Given the description of an element on the screen output the (x, y) to click on. 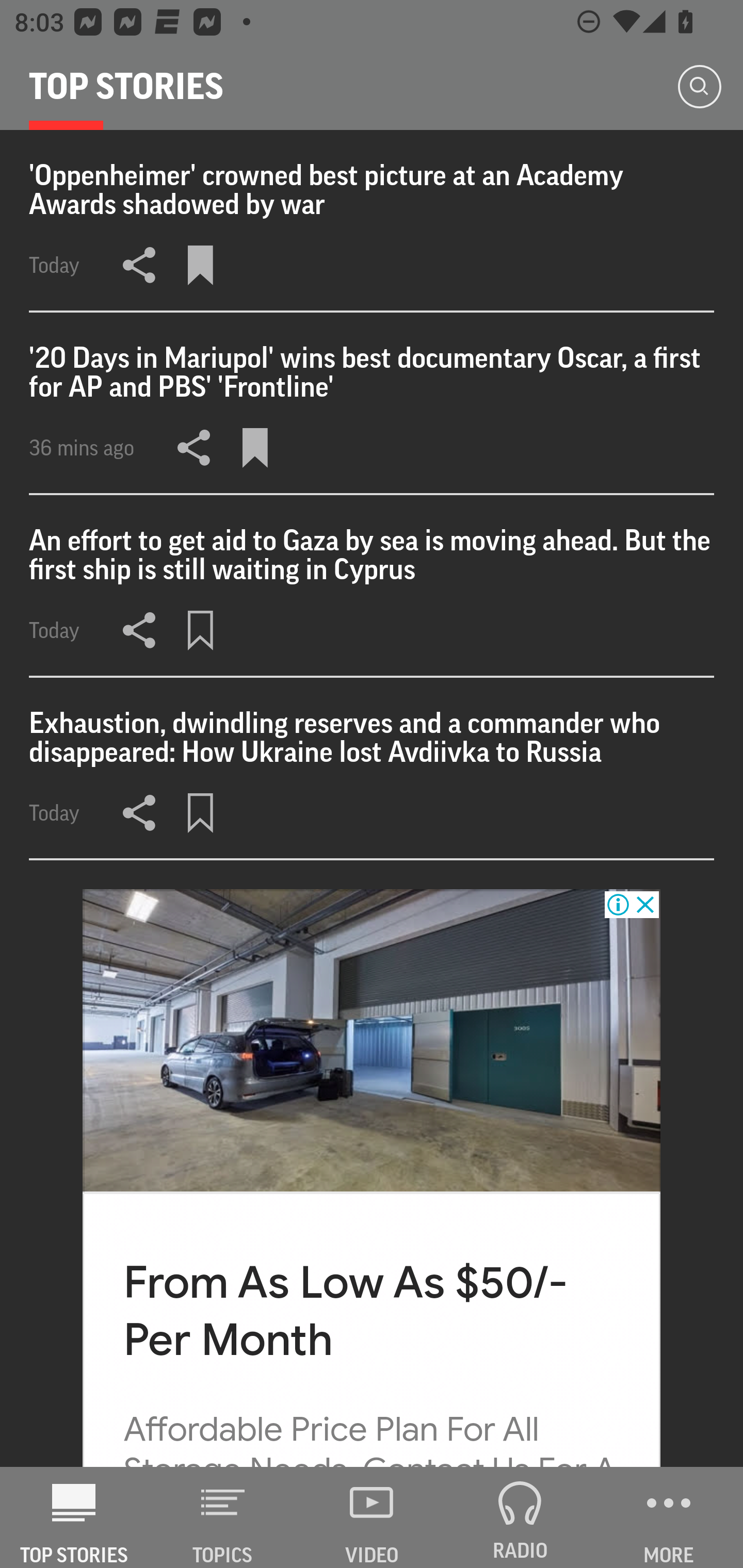
AP News TOP STORIES (74, 1517)
TOPICS (222, 1517)
VIDEO (371, 1517)
RADIO (519, 1517)
MORE (668, 1517)
